Given the description of an element on the screen output the (x, y) to click on. 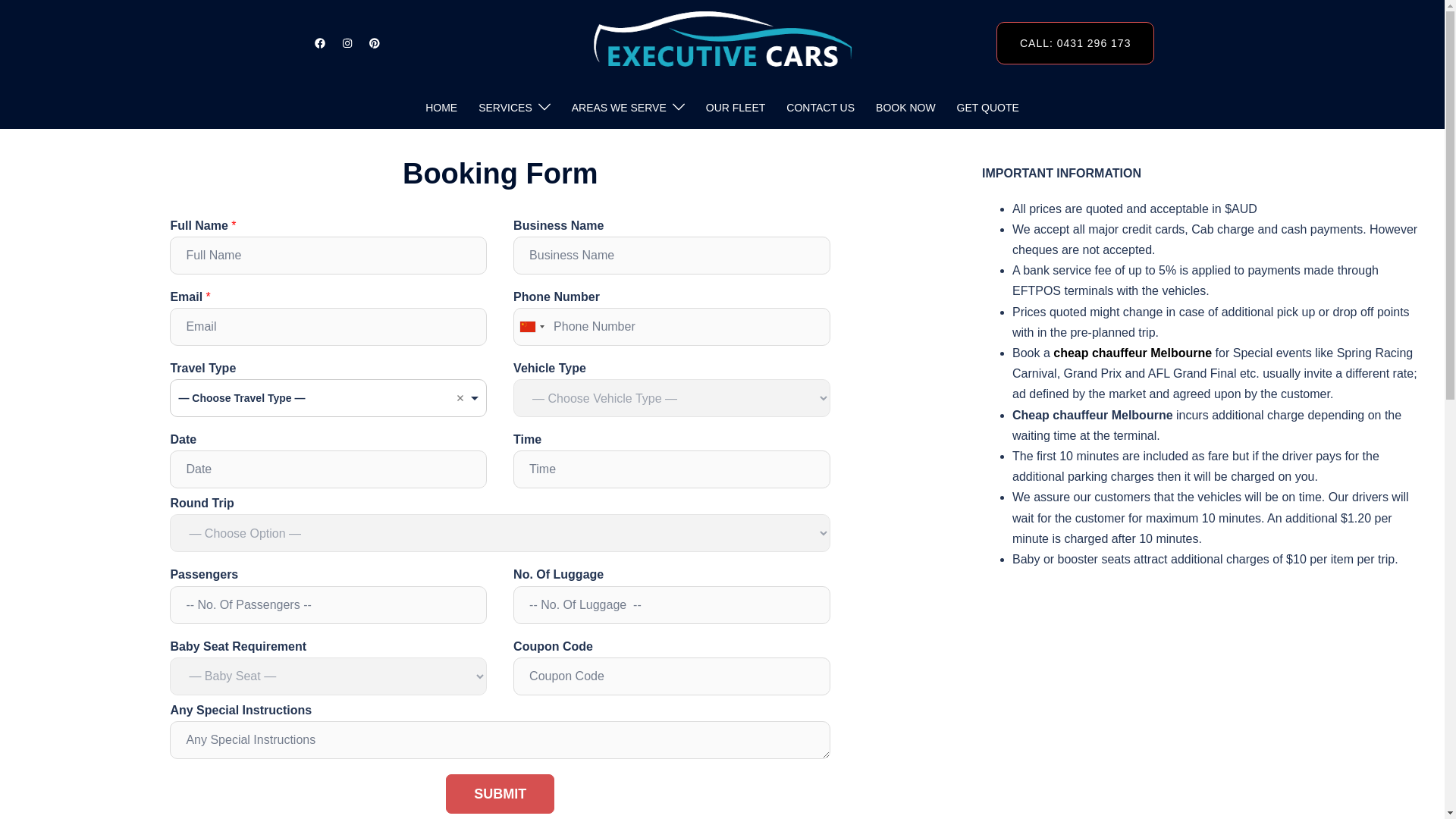
Executive Cars Melbourne (722, 42)
SERVICES (505, 108)
CALL: 0431 296 173 (1074, 43)
AREAS WE SERVE (619, 108)
OUR FLEET (735, 108)
HOME (441, 108)
